Given the description of an element on the screen output the (x, y) to click on. 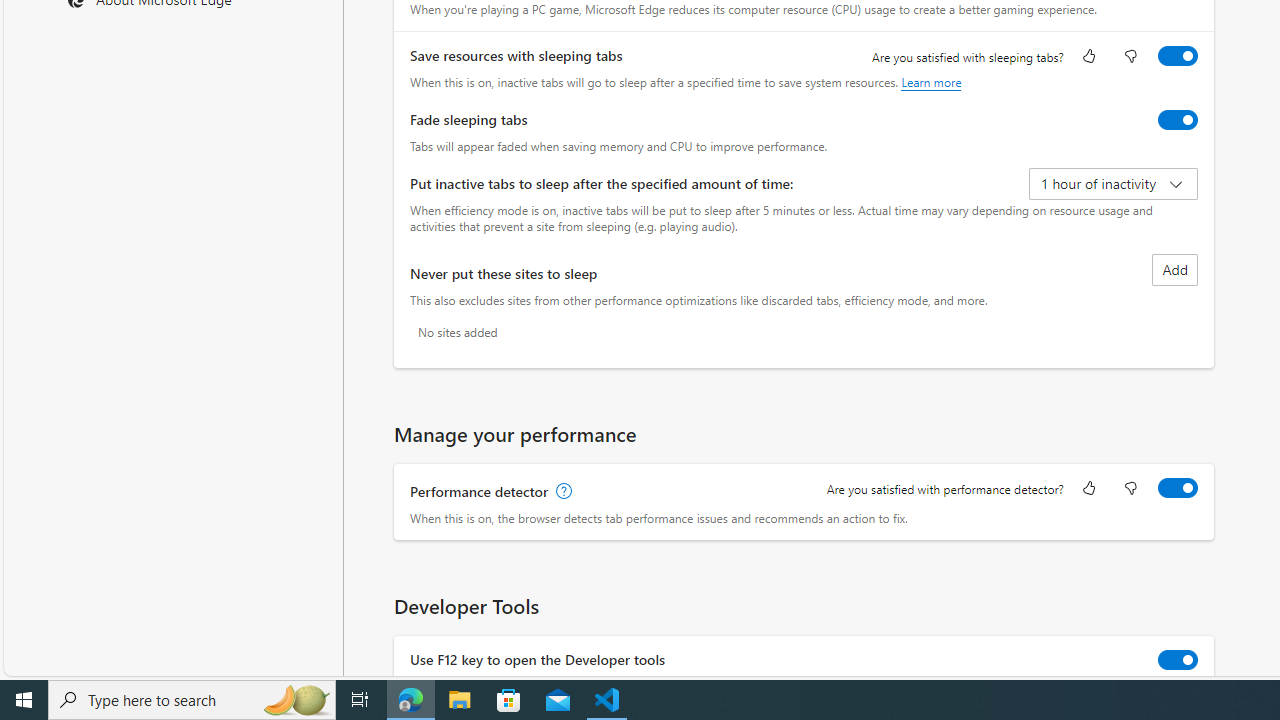
Save resources with sleeping tabs (1178, 56)
Fade sleeping tabs (1178, 120)
Add site to never put these sites to sleep list (1175, 269)
Use F12 key to open the Developer tools (1178, 660)
Performance detector (1178, 488)
Performance detector, learn more (562, 492)
Learn more (931, 82)
